Given the description of an element on the screen output the (x, y) to click on. 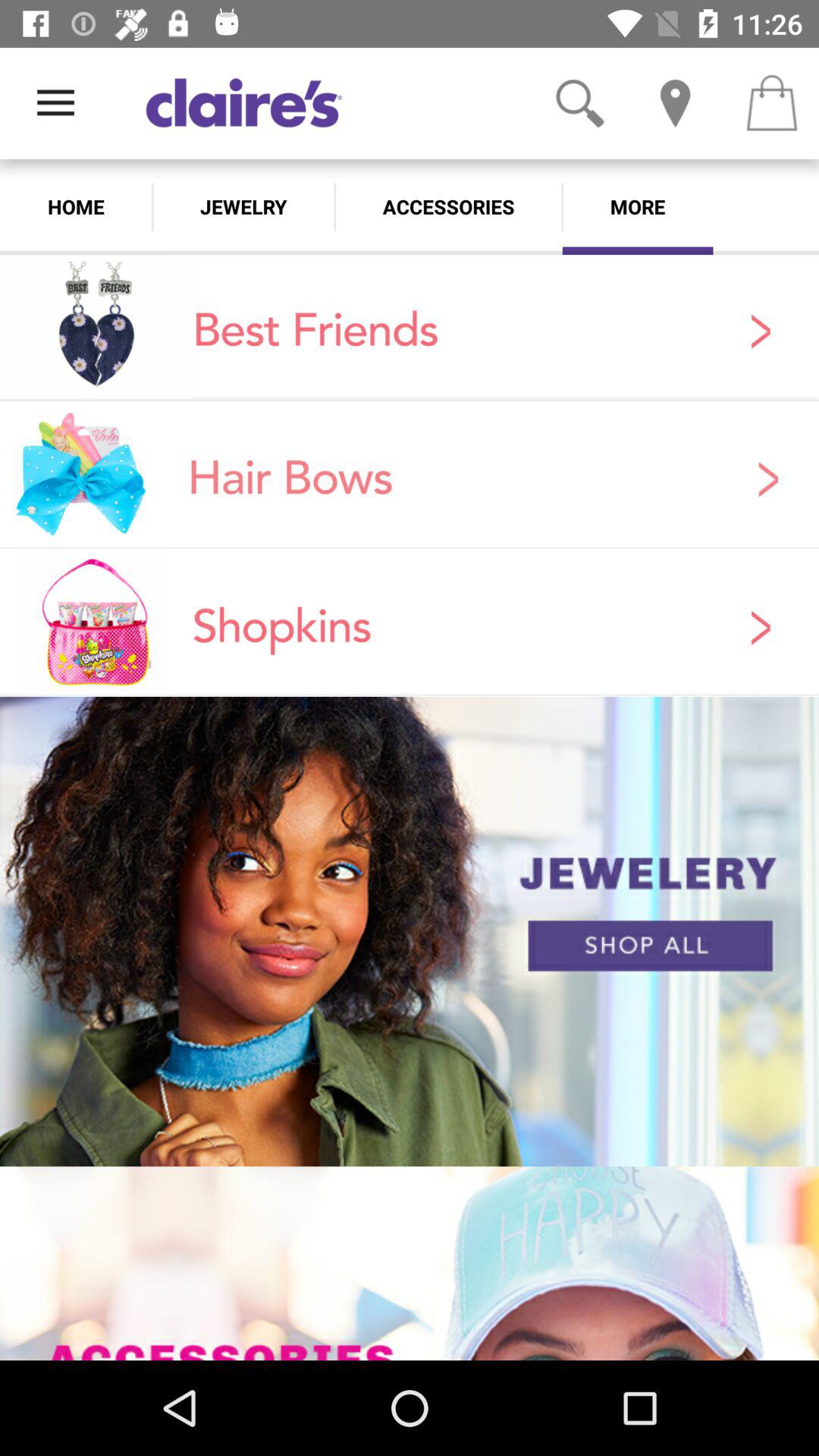
choose app to the right of the jewelry app (448, 206)
